Given the description of an element on the screen output the (x, y) to click on. 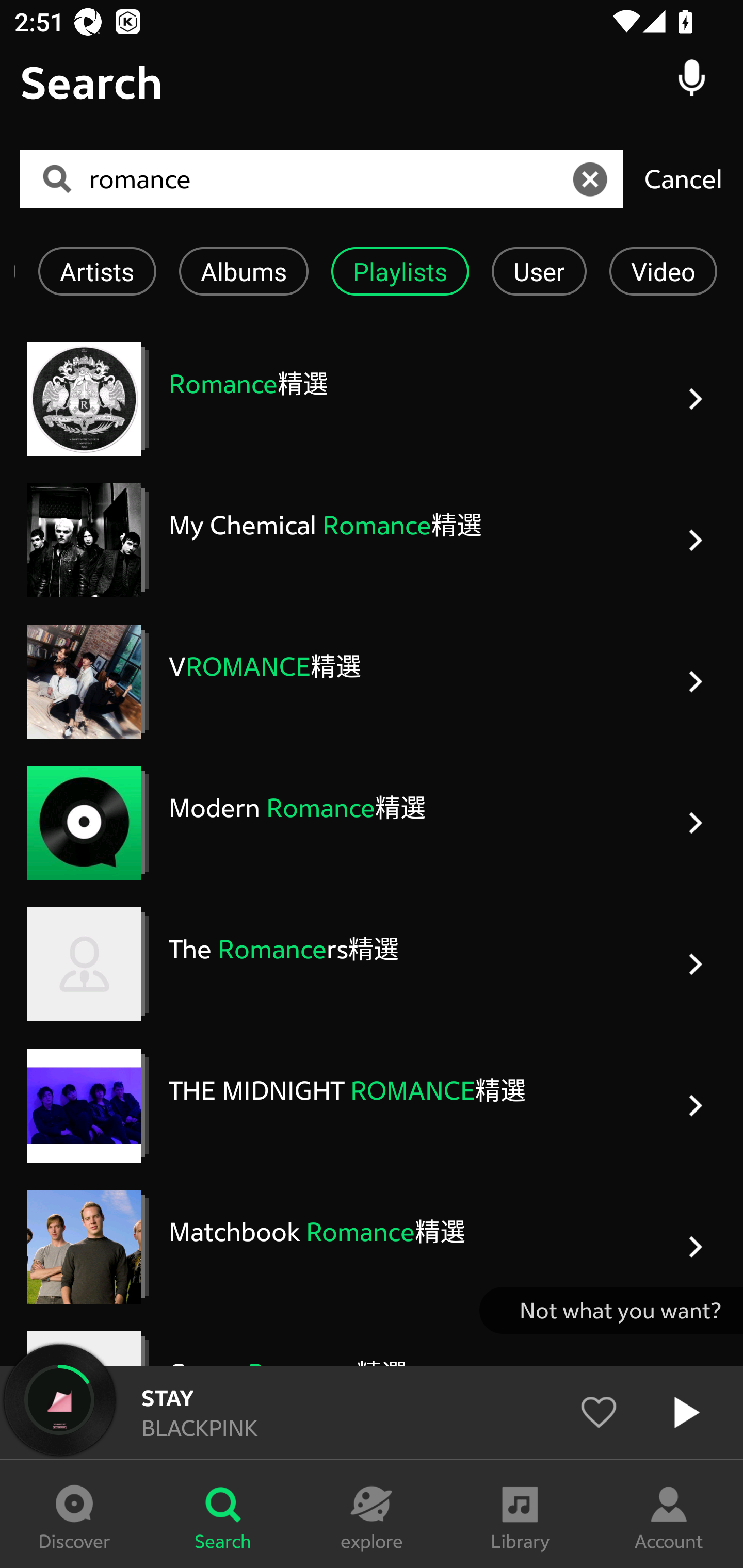
Cancel (683, 178)
romance (327, 179)
Artists (96, 271)
Albums (243, 271)
User (539, 271)
Video (663, 271)
Romance精選 (371, 398)
My Chemical Romance精選 (371, 539)
VROMANCE精選 (371, 681)
Modern Romance精選 (371, 822)
The Romancers精選 (371, 963)
THE MIDNIGHT ROMANCE精選 (371, 1104)
Matchbook Romance精選 (371, 1247)
STAY BLACKPINK (371, 1412)
Discover (74, 1513)
explore (371, 1513)
Library (519, 1513)
Account (668, 1513)
